Given the description of an element on the screen output the (x, y) to click on. 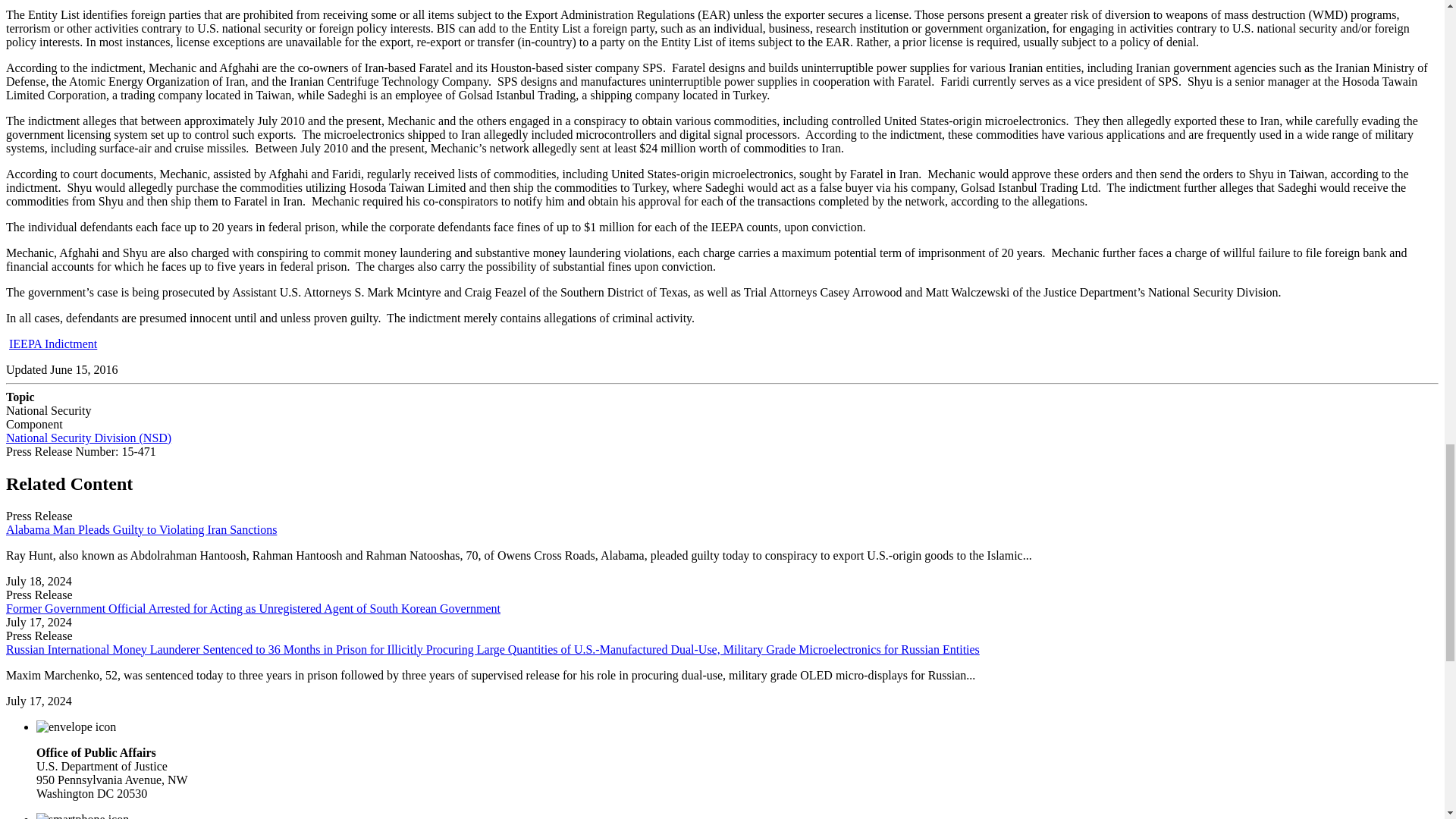
IEEPA Indictment (52, 343)
